Given the description of an element on the screen output the (x, y) to click on. 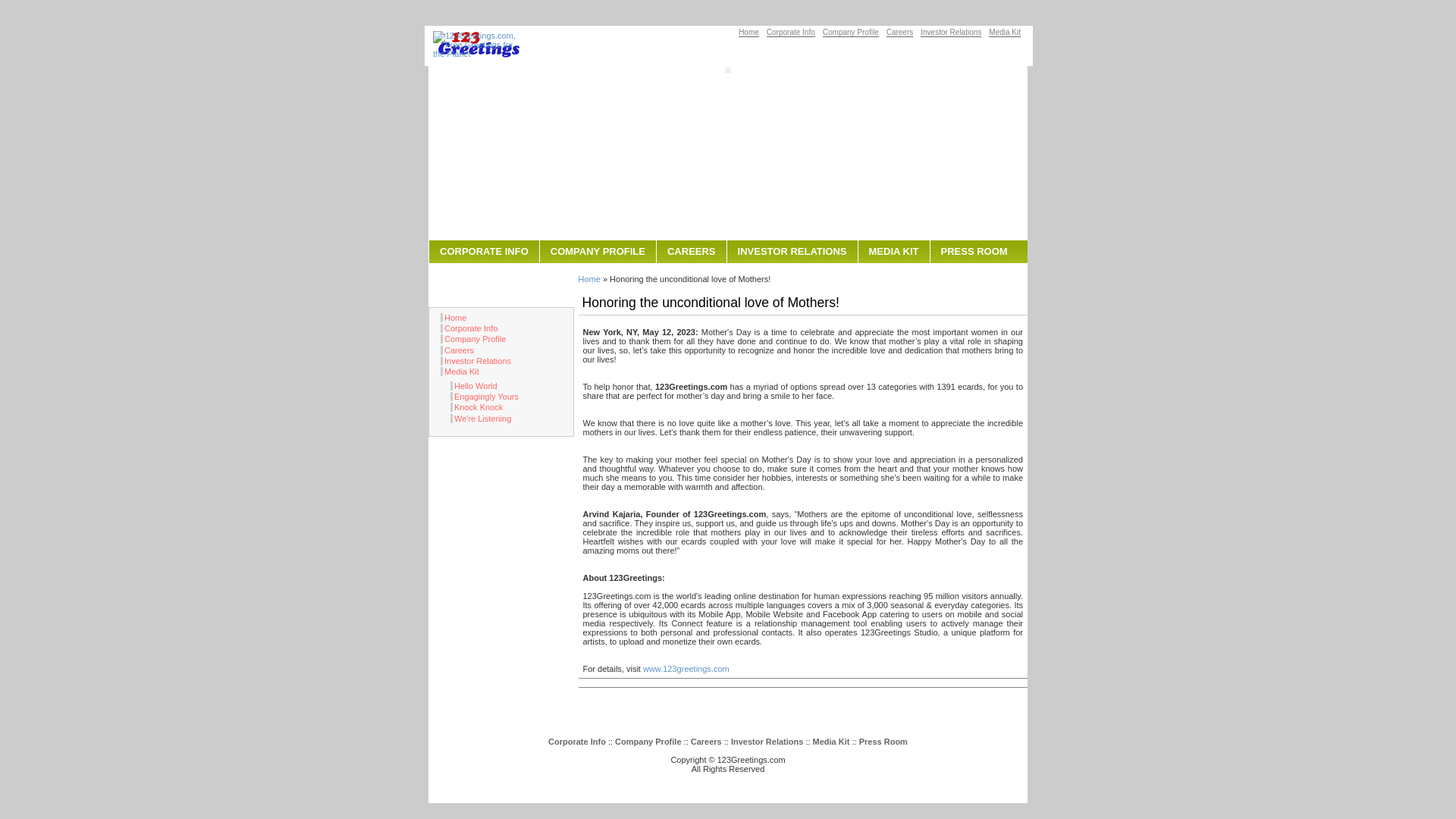
Investor Relations Element type: text (767, 741)
PRESS ROOM Element type: text (973, 251)
Careers Element type: text (705, 741)
www.123greetings.com Element type: text (686, 668)
Hello World Element type: text (473, 385)
Investor Relations Element type: text (475, 360)
Corporate Info Element type: text (576, 741)
Corporate Info Element type: text (468, 327)
Home Element type: text (748, 32)
Knock Knock Element type: text (476, 406)
Company Profile Element type: text (850, 32)
CORPORATE INFO Element type: text (483, 251)
Media Kit Element type: text (831, 741)
Home Element type: text (453, 317)
We're Listening Element type: text (480, 418)
Careers Element type: text (899, 32)
CAREERS Element type: text (690, 251)
123Greetings.com, Free Greetings for the Planet Element type: hover (478, 44)
Engagingly Yours Element type: text (484, 396)
MEDIA KIT Element type: text (893, 251)
Media Kit Element type: text (1004, 32)
Media Kit Element type: text (459, 371)
Company Profile Element type: text (647, 741)
Company Profile Element type: text (472, 338)
INVESTOR RELATIONS Element type: text (791, 251)
COMPANY PROFILE Element type: text (597, 251)
Investor Relations Element type: text (950, 32)
Home Element type: text (588, 278)
Press Room Element type: text (883, 741)
Corporate Info Element type: text (790, 32)
Careers Element type: text (456, 349)
